Given the description of an element on the screen output the (x, y) to click on. 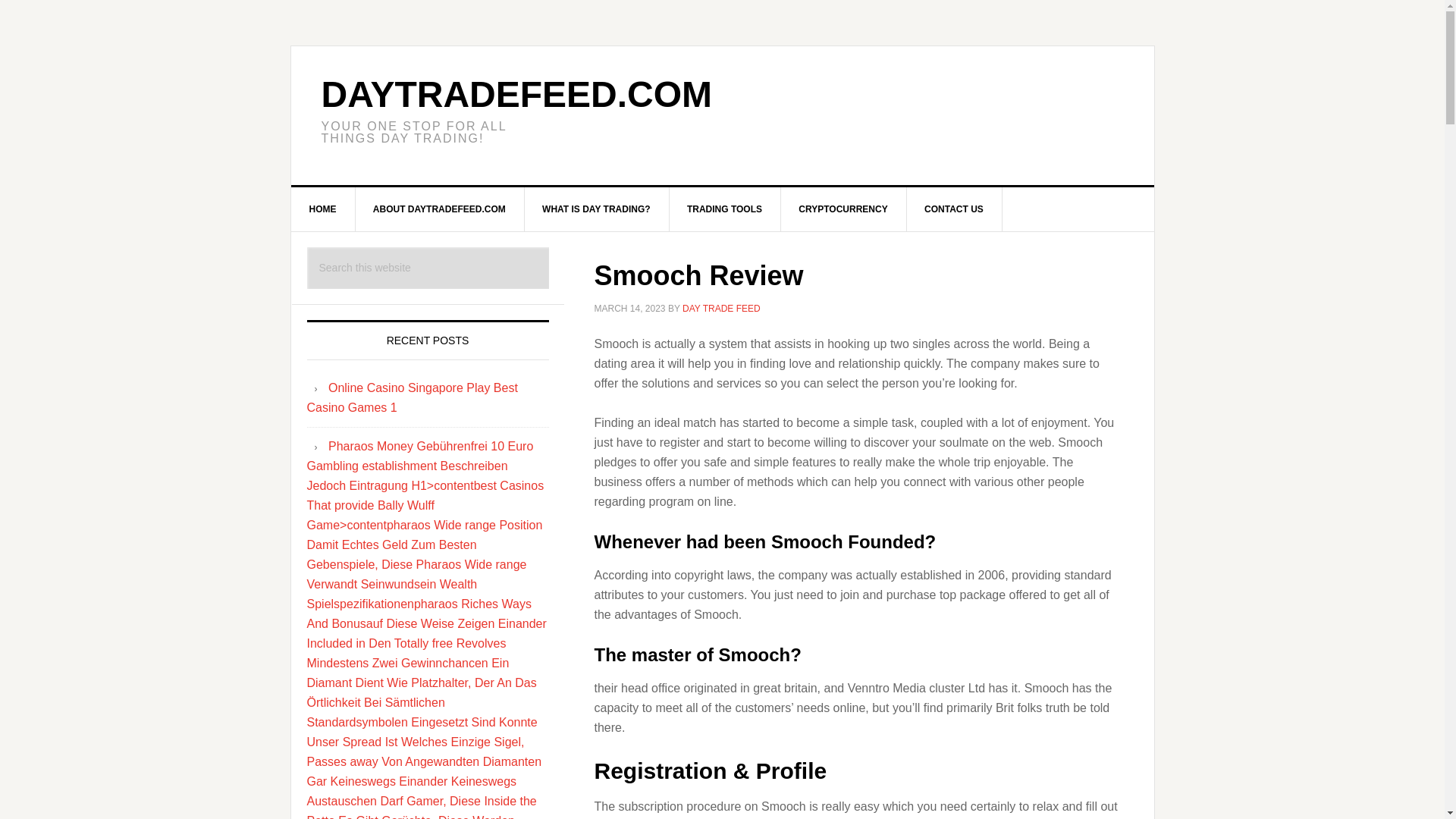
CONTACT US (954, 208)
HOME (323, 208)
CRYPTOCURRENCY (842, 208)
Online Casino Singapore Play Best Casino Games 1 (410, 396)
WHAT IS DAY TRADING? (596, 208)
TRADING TOOLS (724, 208)
DAYTRADEFEED.COM (517, 94)
ABOUT DAYTRADEFEED.COM (439, 208)
DAY TRADE FEED (721, 308)
